Given the description of an element on the screen output the (x, y) to click on. 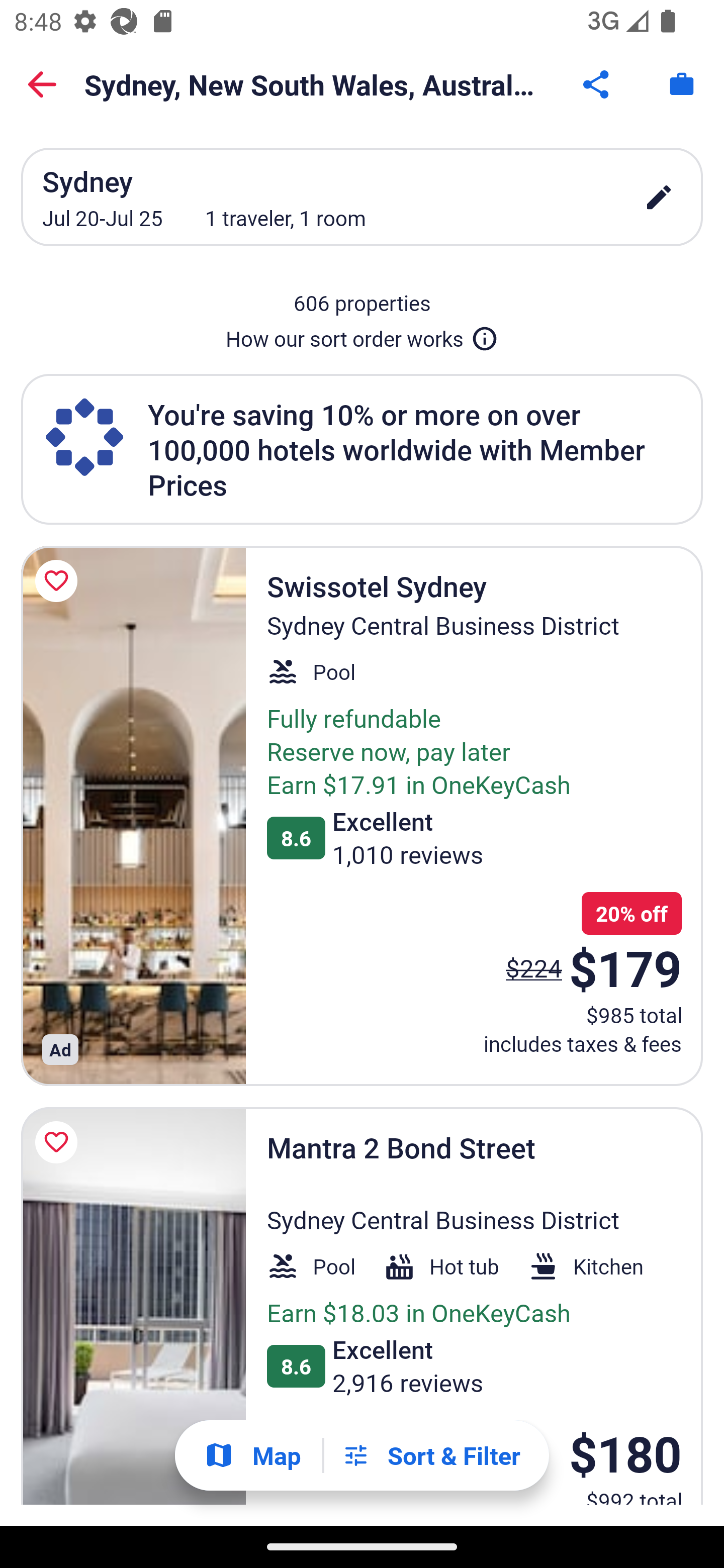
Back (42, 84)
Share Button (597, 84)
Trips. Button (681, 84)
Sydney Jul 20-Jul 25 1 traveler, 1 room edit (361, 196)
How our sort order works (361, 334)
Save Swissotel Sydney to a trip (59, 580)
Swissotel Sydney (133, 815)
$224 The price was $224 (533, 967)
Save Mantra 2 Bond Street to a trip (59, 1141)
Mantra 2 Bond Street (133, 1306)
Filters Sort & Filter Filters Button (430, 1455)
Show map Map Show map Button (252, 1455)
